Given the description of an element on the screen output the (x, y) to click on. 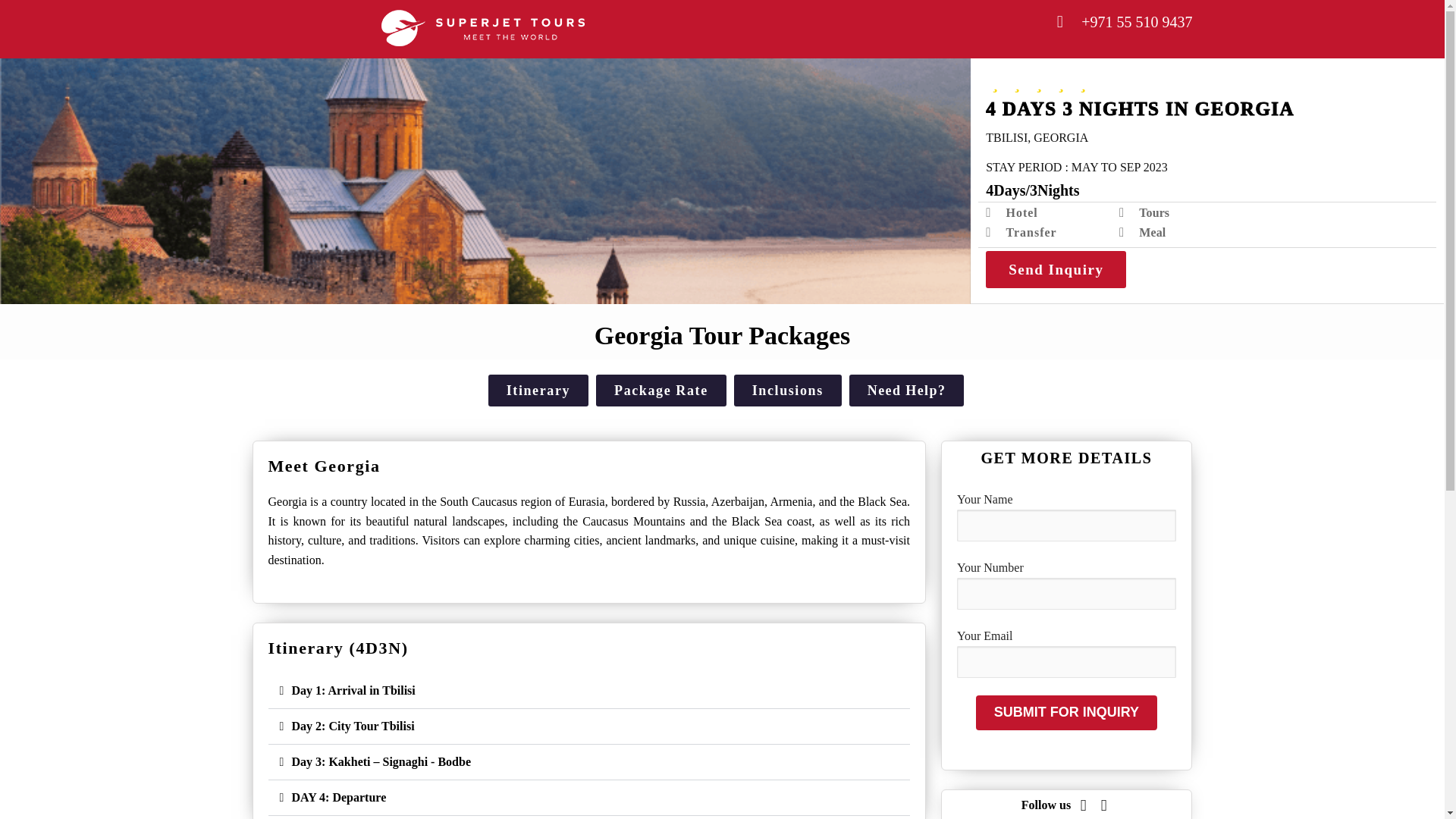
SUBMIT FOR INQUIRY (1065, 713)
Send Inquiry (1055, 269)
Day 2: City Tour Tbilisi (352, 725)
Need Help? (905, 390)
SUBMIT FOR INQUIRY (1065, 713)
DAY 4: Departure (338, 797)
Inclusions (787, 390)
Day 1: Arrival in Tbilisi (352, 689)
Itinerary (537, 390)
Package Rate (660, 390)
